Given the description of an element on the screen output the (x, y) to click on. 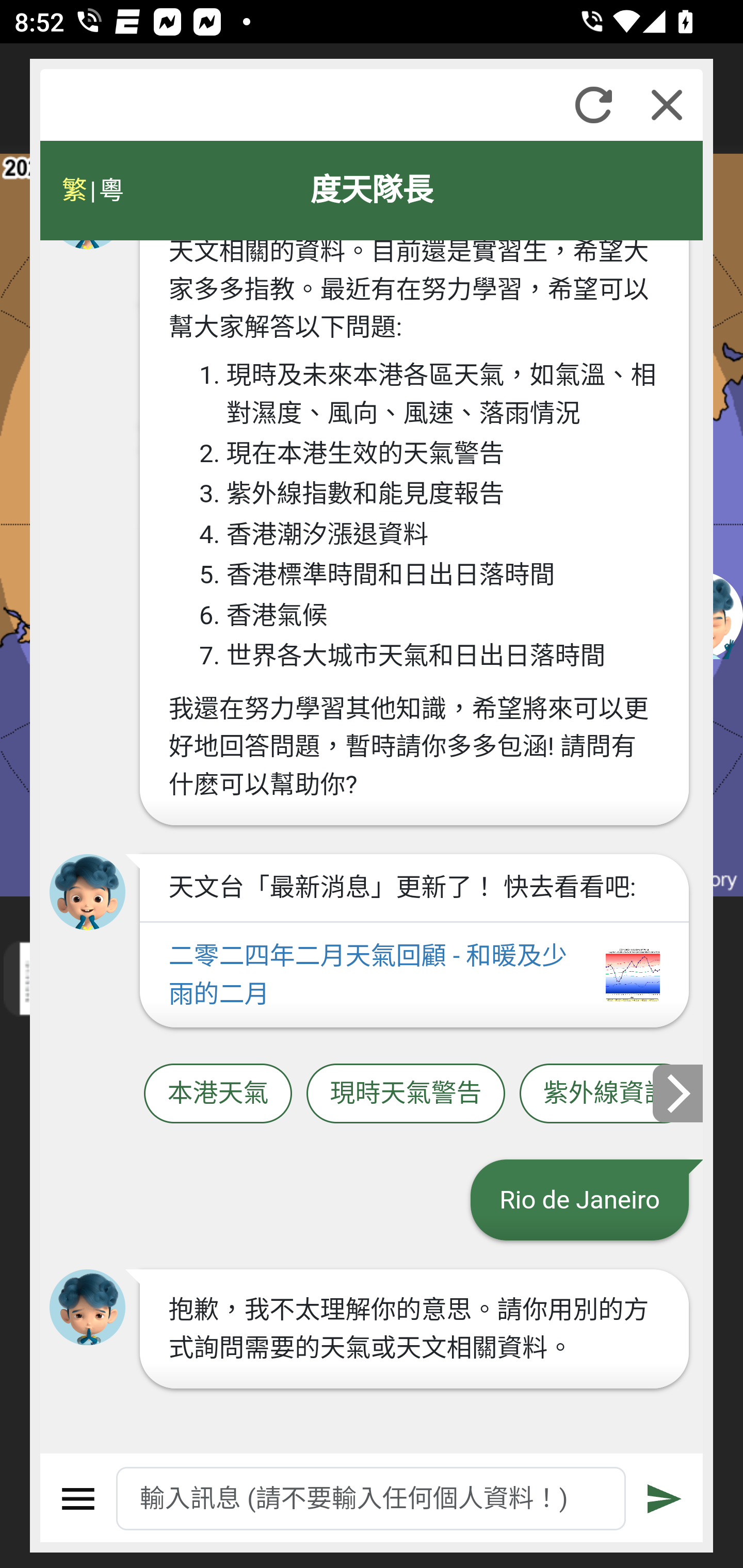
重新整理 (593, 104)
關閉 (666, 104)
繁 (73, 190)
粵 (110, 190)
二零二四年二月天氣回顧 - 和暖及少雨的二月 (413, 974)
本港天氣 (217, 1093)
現時天氣警告 (405, 1093)
紫外線資訊 (605, 1093)
下一張 (678, 1092)
選單 (78, 1498)
遞交 (665, 1498)
